Given the description of an element on the screen output the (x, y) to click on. 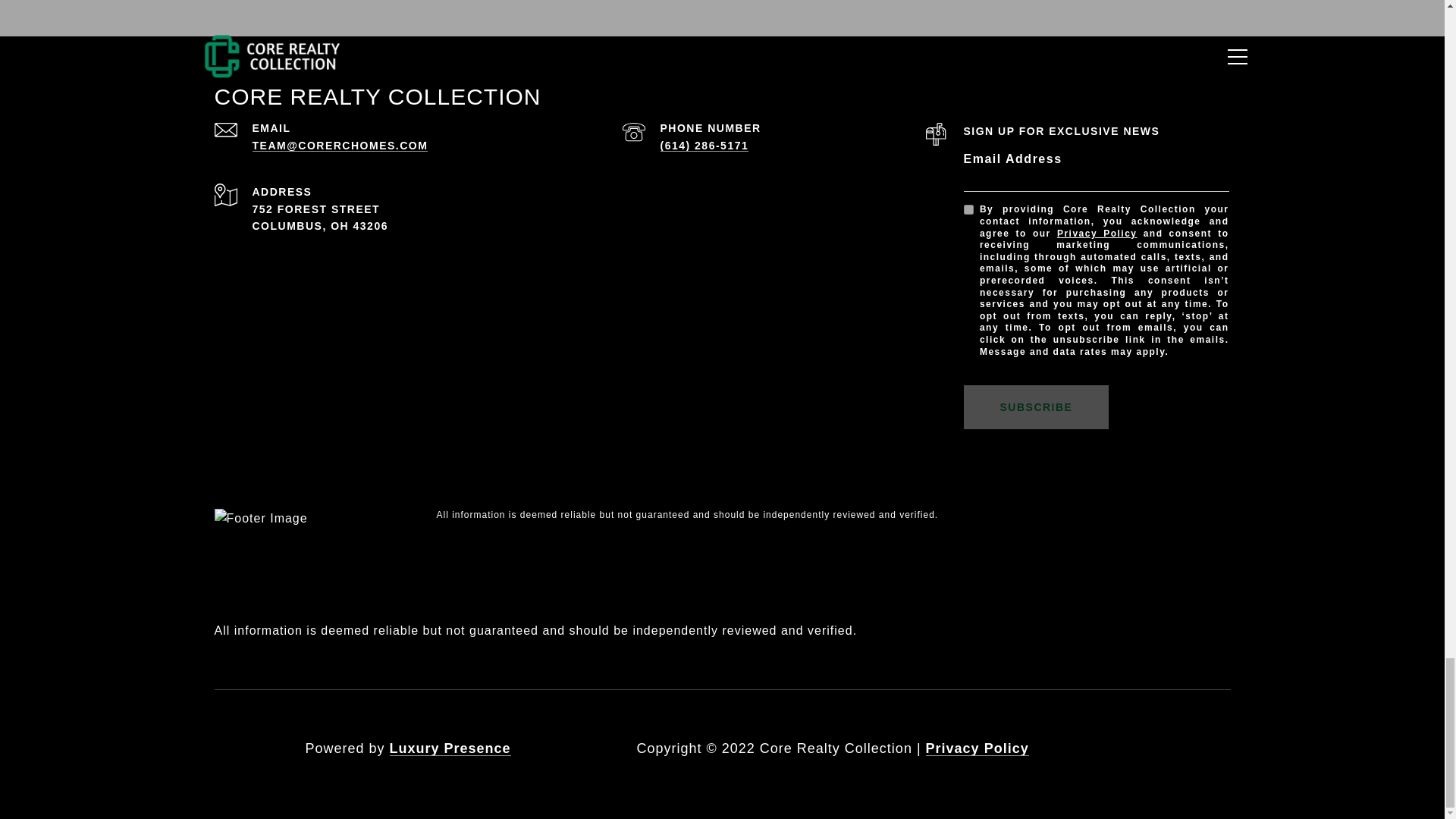
on (967, 209)
